Given the description of an element on the screen output the (x, y) to click on. 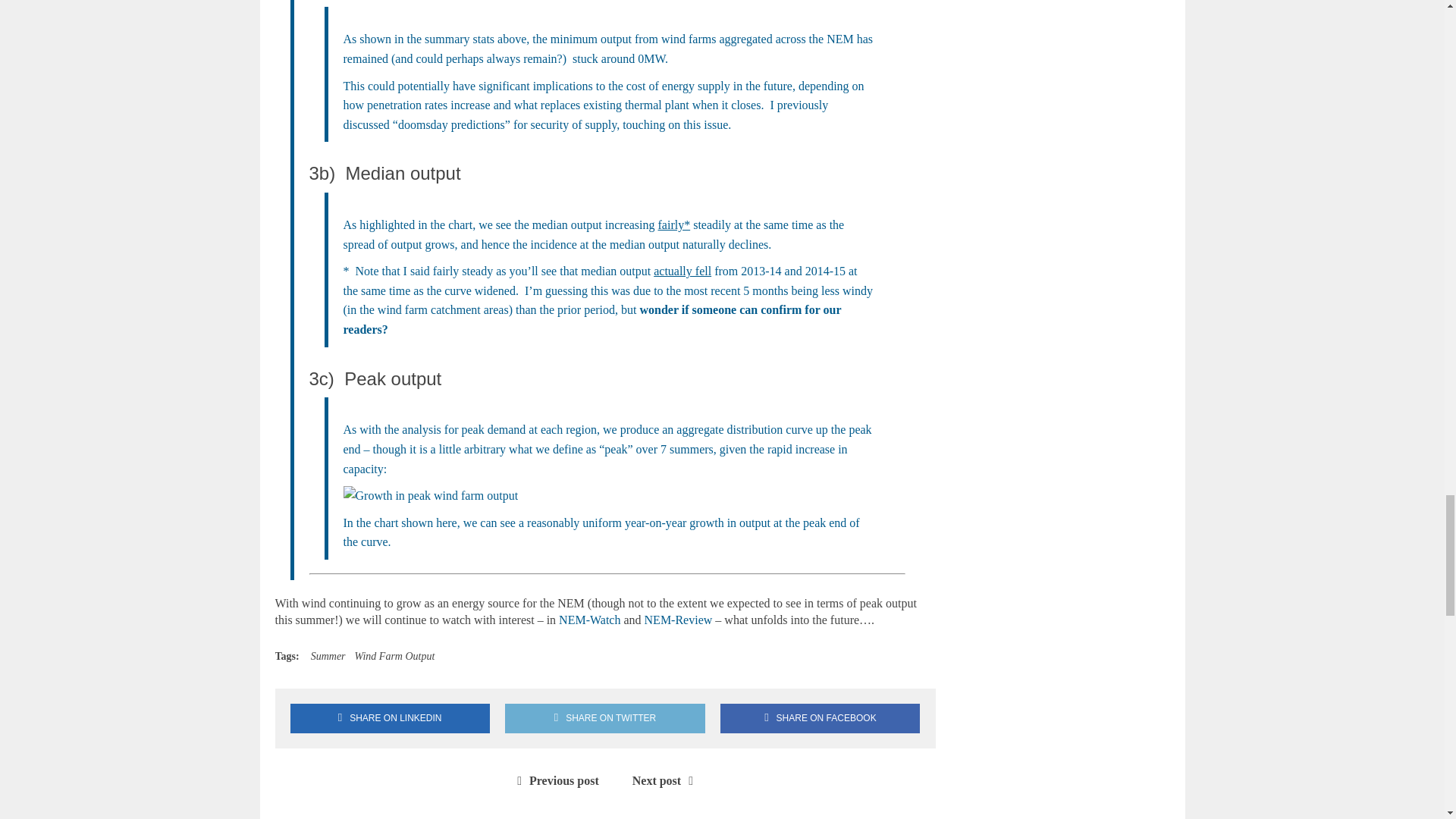
Share on Facebook (820, 718)
Share on Linkedin (389, 718)
Growth in peak wind farm output (430, 496)
Tweet This Post (604, 718)
